Given the description of an element on the screen output the (x, y) to click on. 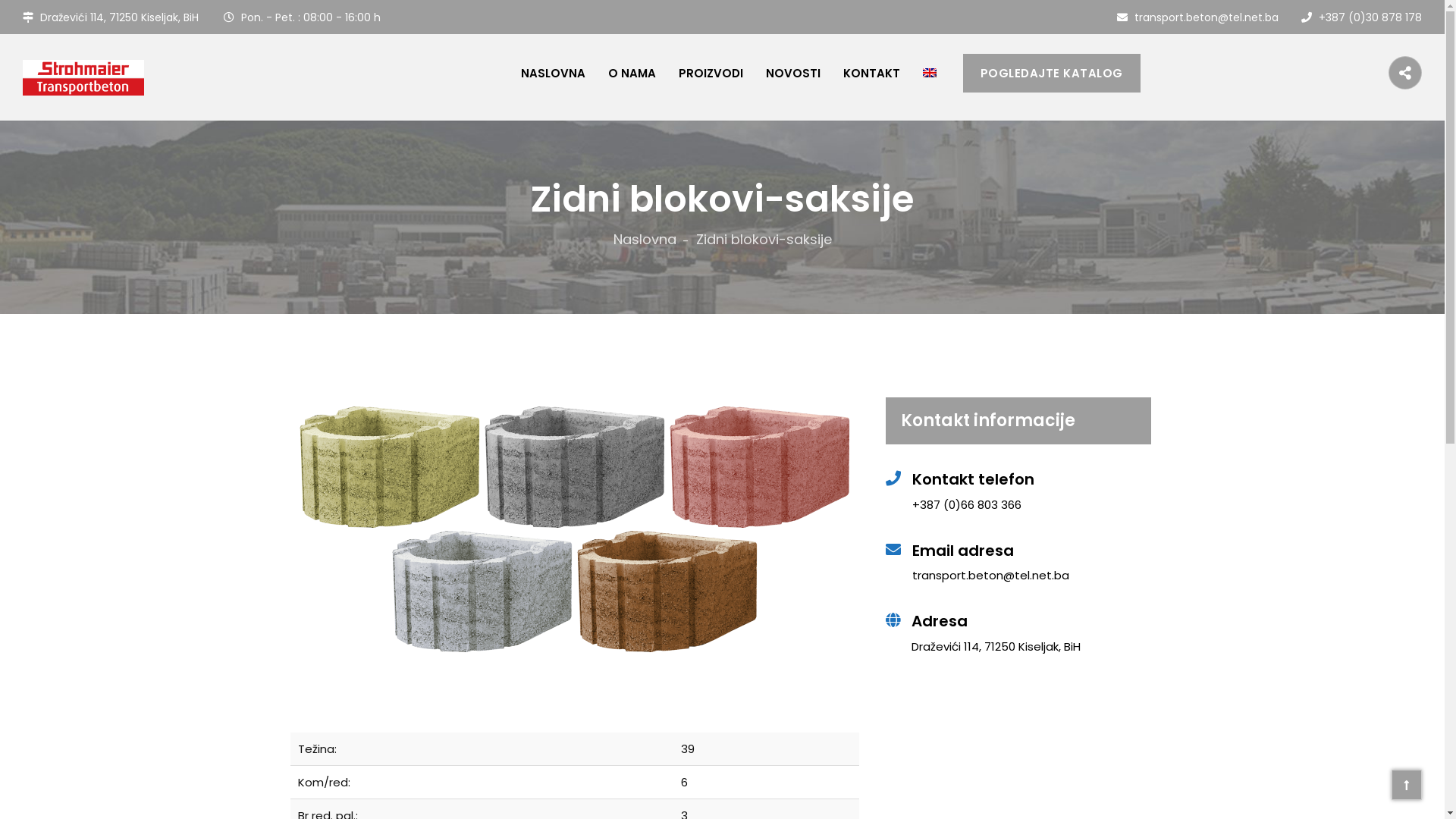
saksija_crna Element type: hover (574, 466)
saksija_zuta Element type: hover (389, 466)
Kontakt telefon Element type: text (1030, 479)
saksija_bordo Element type: hover (667, 591)
O NAMA Element type: text (631, 73)
+387 (0)30 878 178 Element type: text (1361, 17)
PROIZVODI Element type: text (710, 73)
Naslovna Element type: text (650, 238)
Email adresa Element type: text (1030, 550)
NOVOSTI Element type: text (792, 73)
NASLOVNA Element type: text (552, 73)
saksija_siva Element type: hover (482, 591)
transport.beton@tel.net.ba Element type: text (1197, 17)
POGLEDAJTE KATALOG Element type: text (1051, 72)
saksija_crvena Element type: hover (759, 466)
KONTAKT Element type: text (871, 73)
Adresa Element type: text (1031, 621)
